Given the description of an element on the screen output the (x, y) to click on. 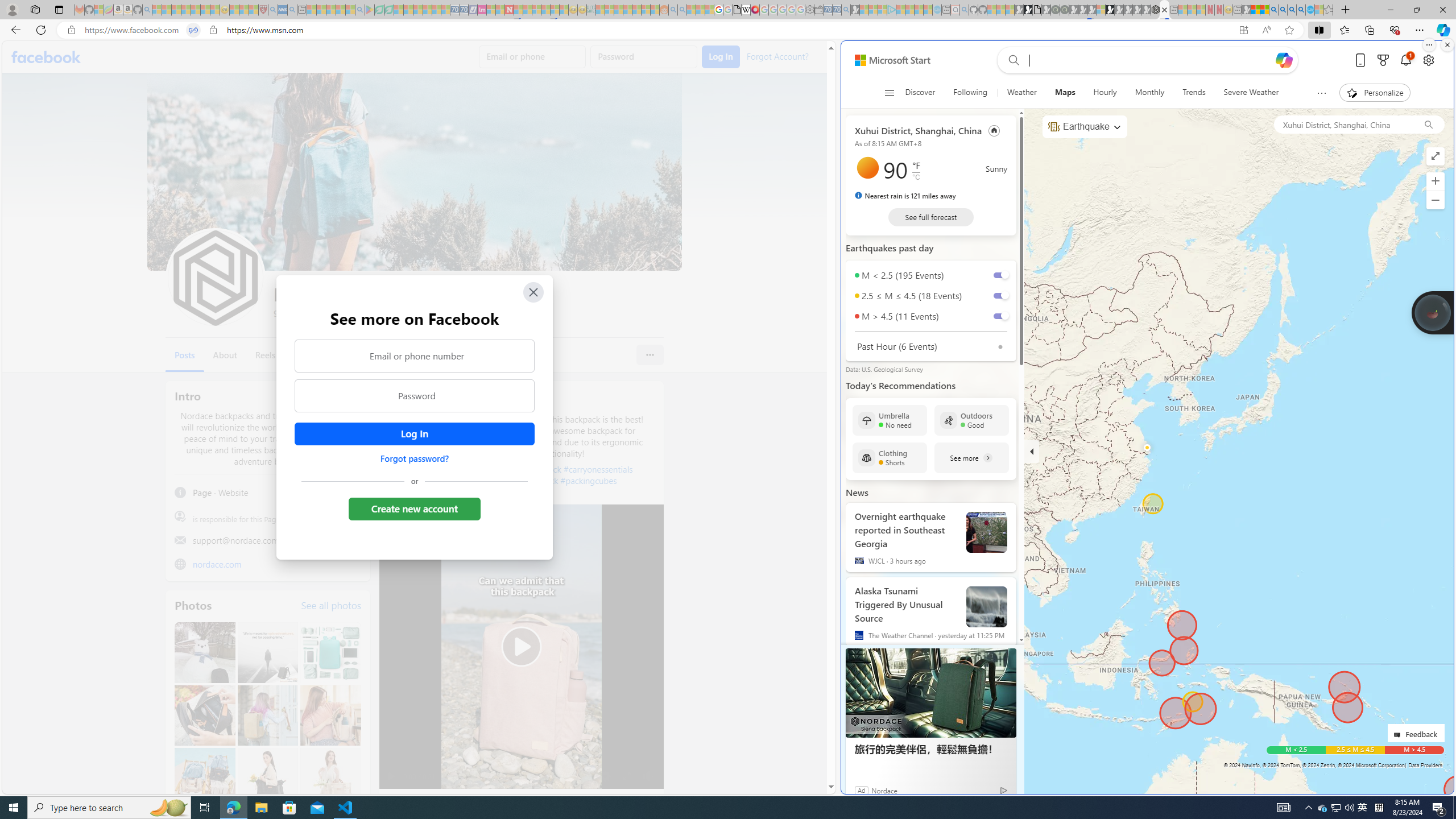
Services - Maintenance | Sky Blue Bikes - Sky Blue Bikes (1309, 9)
Microsoft Start - Sleeping (919, 9)
Weather (1021, 92)
Copilot (Ctrl+Shift+.) (1442, 29)
Maps (1064, 92)
Open navigation menu (888, 92)
Robert H. Shmerling, MD - Harvard Health - Sleeping (263, 9)
Facebook (46, 56)
Local - MSN - Sleeping (253, 9)
Browser essentials (1394, 29)
Clothing Shorts (890, 457)
list of asthma inhalers uk - Search - Sleeping (272, 9)
Enter full screen mode (1435, 156)
google_privacy_policy_zh-CN.pdf (736, 9)
